Given the description of an element on the screen output the (x, y) to click on. 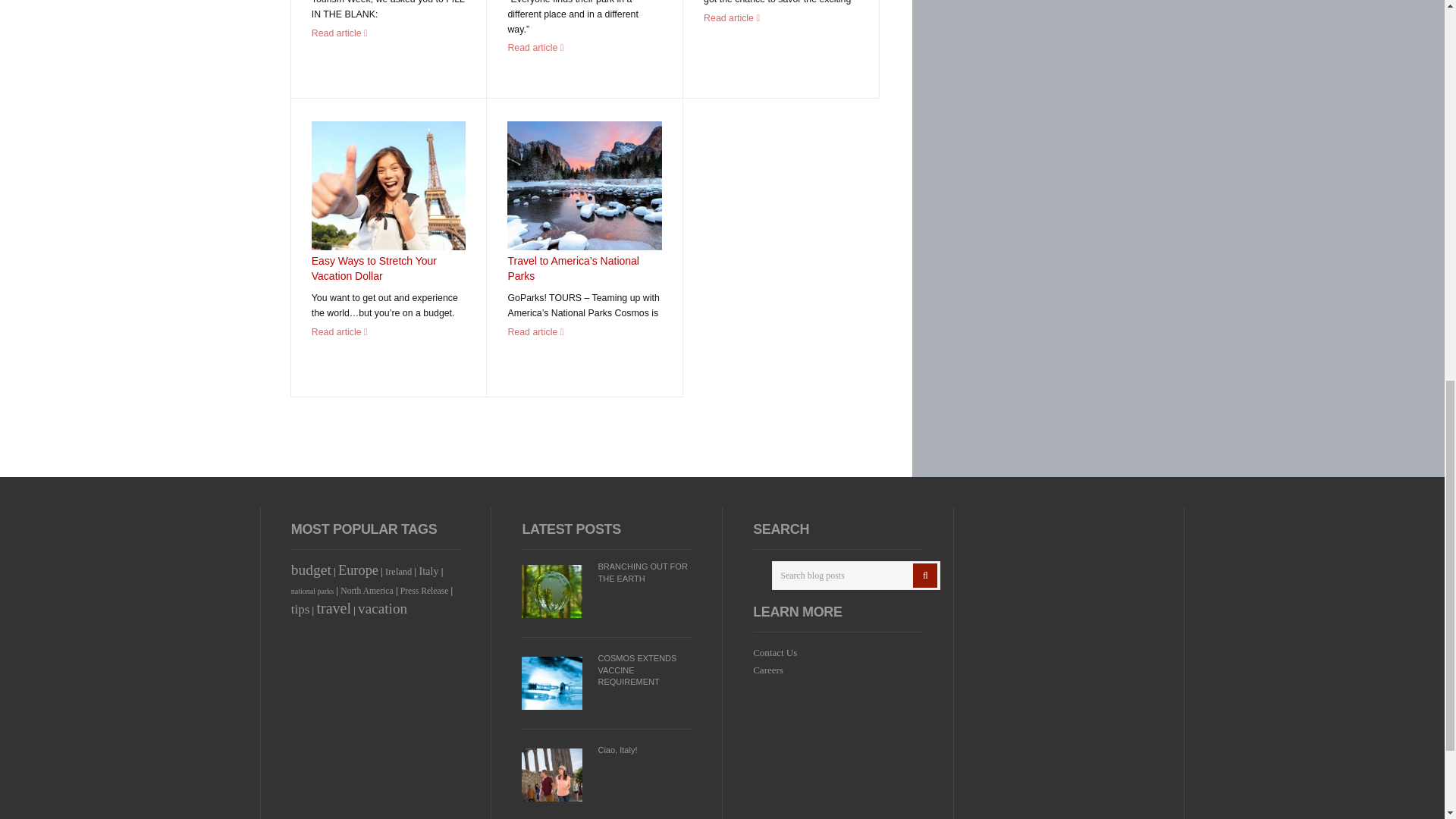
Read article (534, 331)
Search blog posts (855, 575)
Easy Ways to Stretch Your... (388, 185)
Read article (731, 18)
Read article (339, 32)
Easy Ways to Stretch Your Vacation Dollar (373, 267)
Read article (534, 47)
Read article (339, 331)
Easy Ways to Stretch Your Vacation Dollar (373, 267)
